Given the description of an element on the screen output the (x, y) to click on. 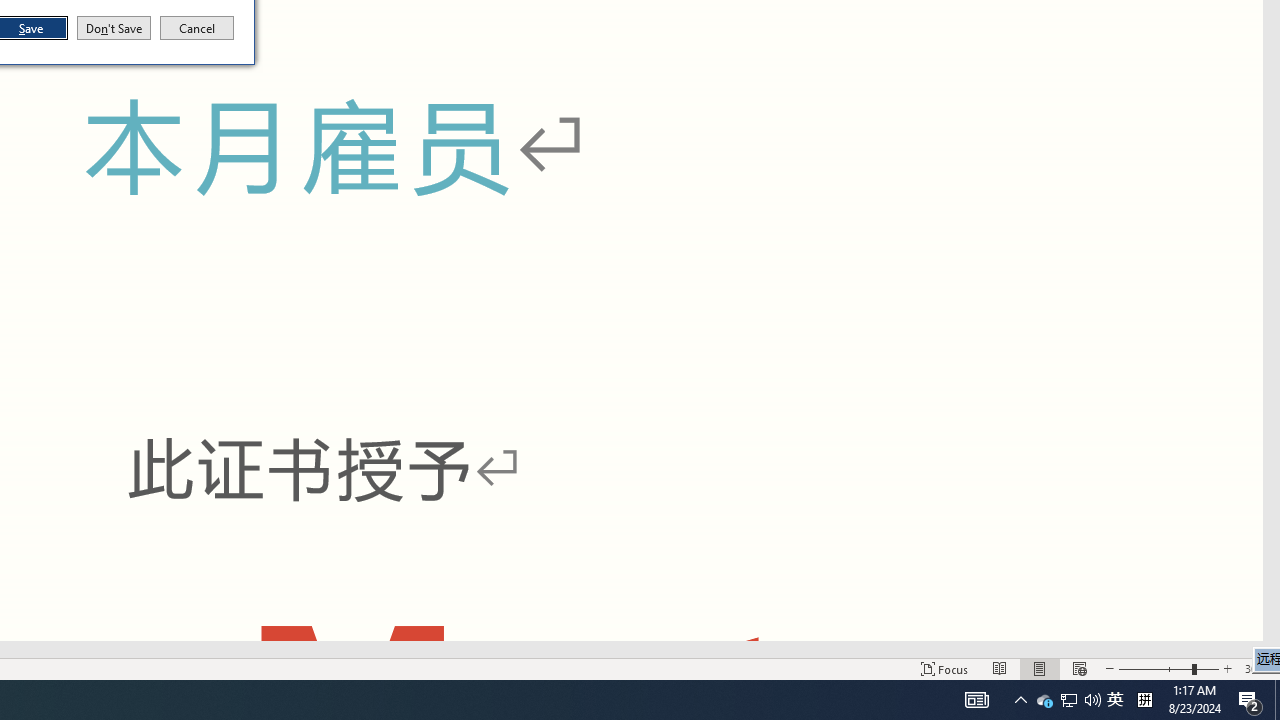
AutomationID: 4105 (1044, 699)
Cancel (976, 699)
Don't Save (1069, 699)
Notification Chevron (197, 27)
Zoom (113, 27)
Zoom 308% (1020, 699)
